Given the description of an element on the screen output the (x, y) to click on. 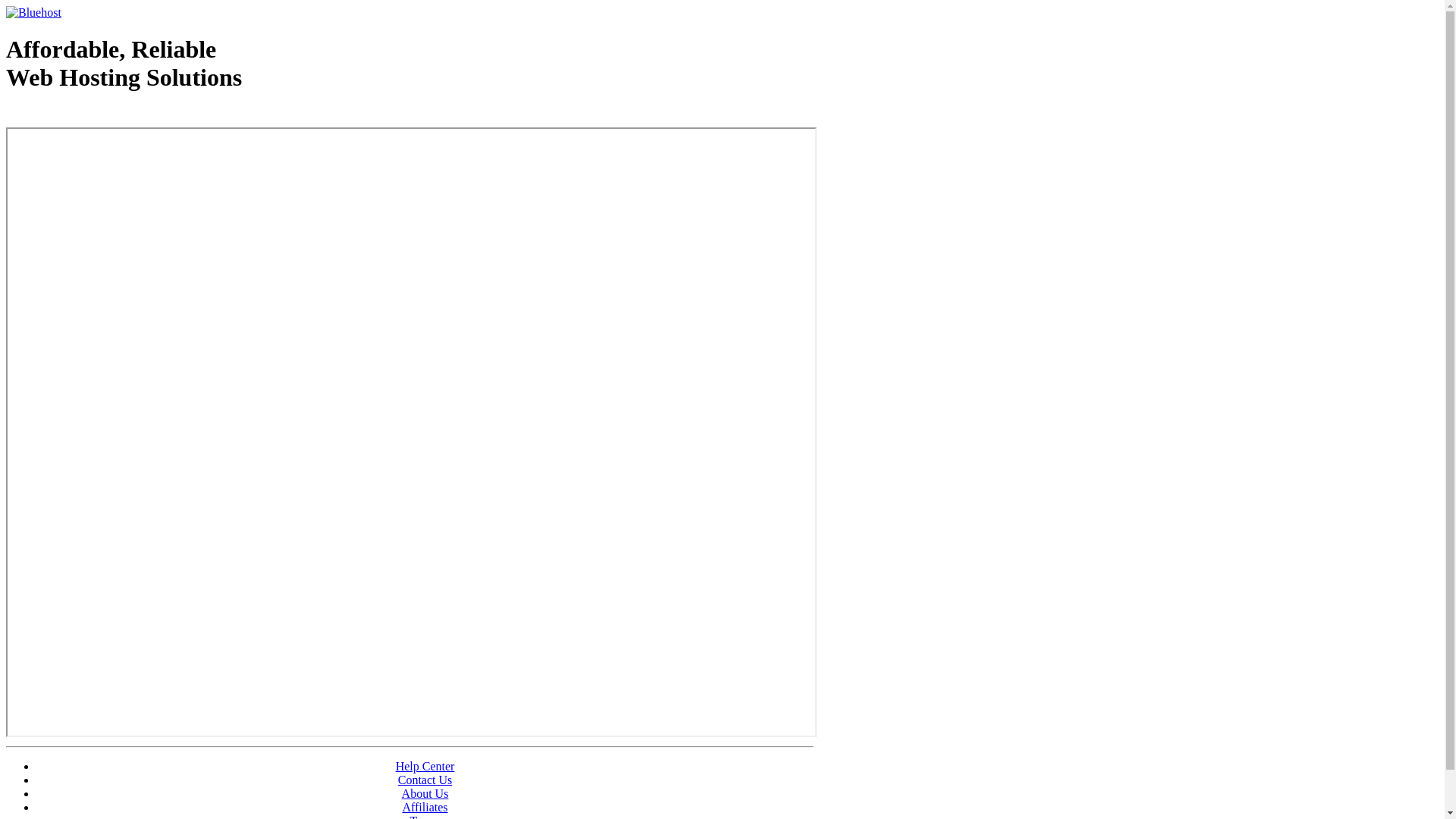
Help Center Element type: text (425, 765)
About Us Element type: text (424, 793)
Web Hosting - courtesy of www.bluehost.com Element type: text (94, 115)
Contact Us Element type: text (425, 779)
Affiliates Element type: text (424, 806)
